Given the description of an element on the screen output the (x, y) to click on. 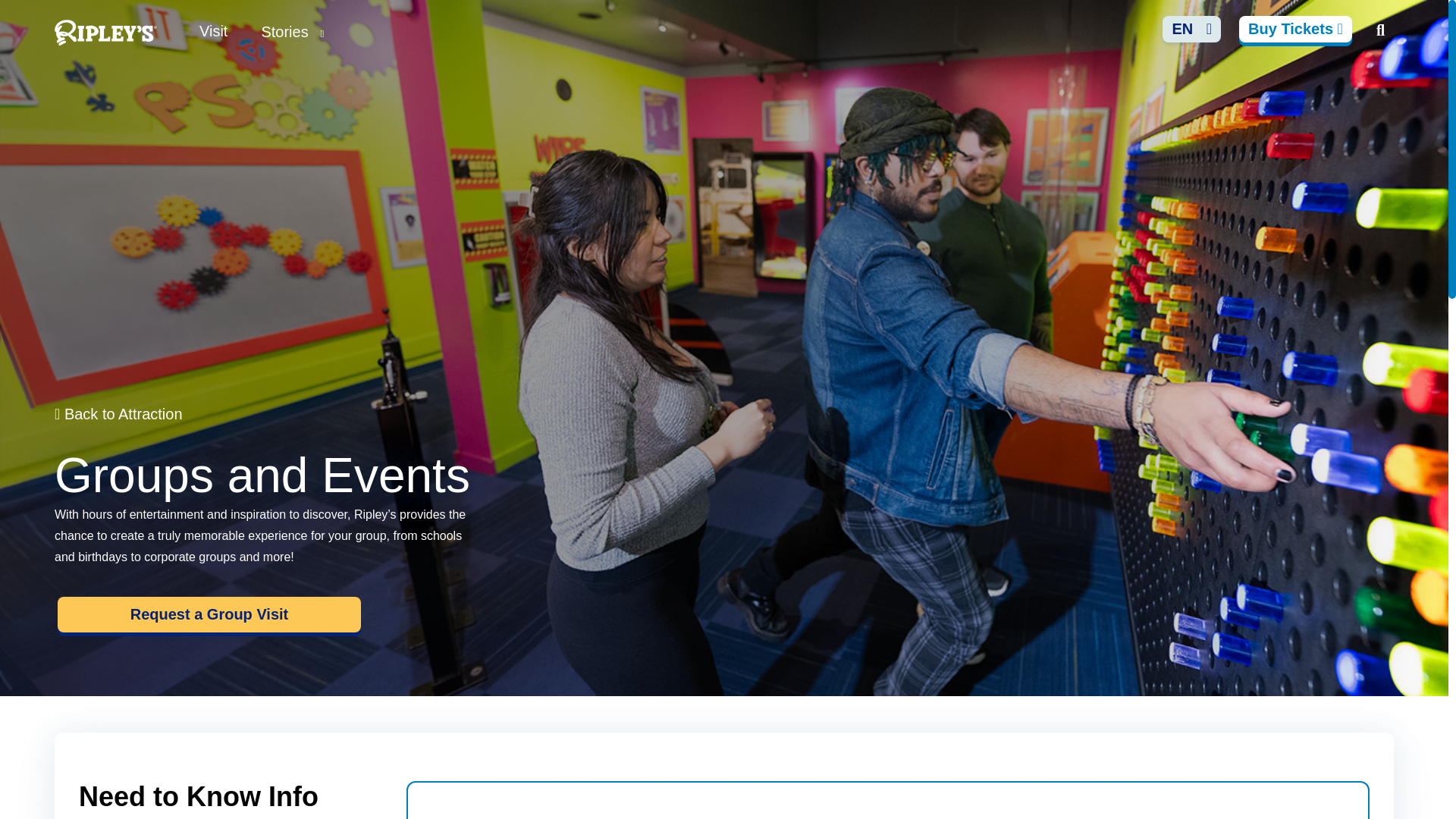
Stories (292, 31)
Visit (212, 30)
EN (1191, 28)
Buy Tickets (1295, 28)
